Given the description of an element on the screen output the (x, y) to click on. 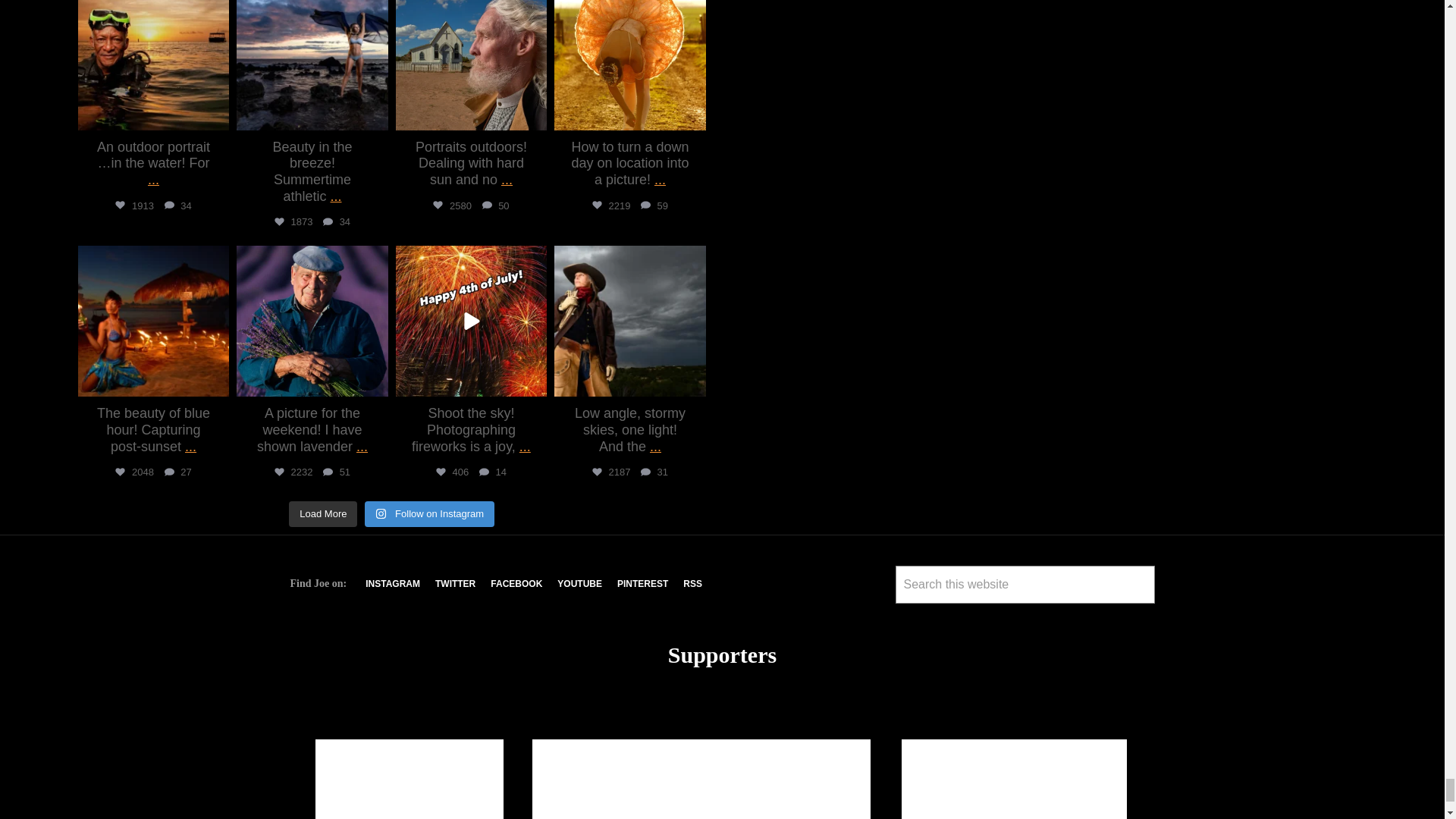
Follow Joe on Instagram (392, 583)
Search (913, 616)
Search (913, 616)
